Given the description of an element on the screen output the (x, y) to click on. 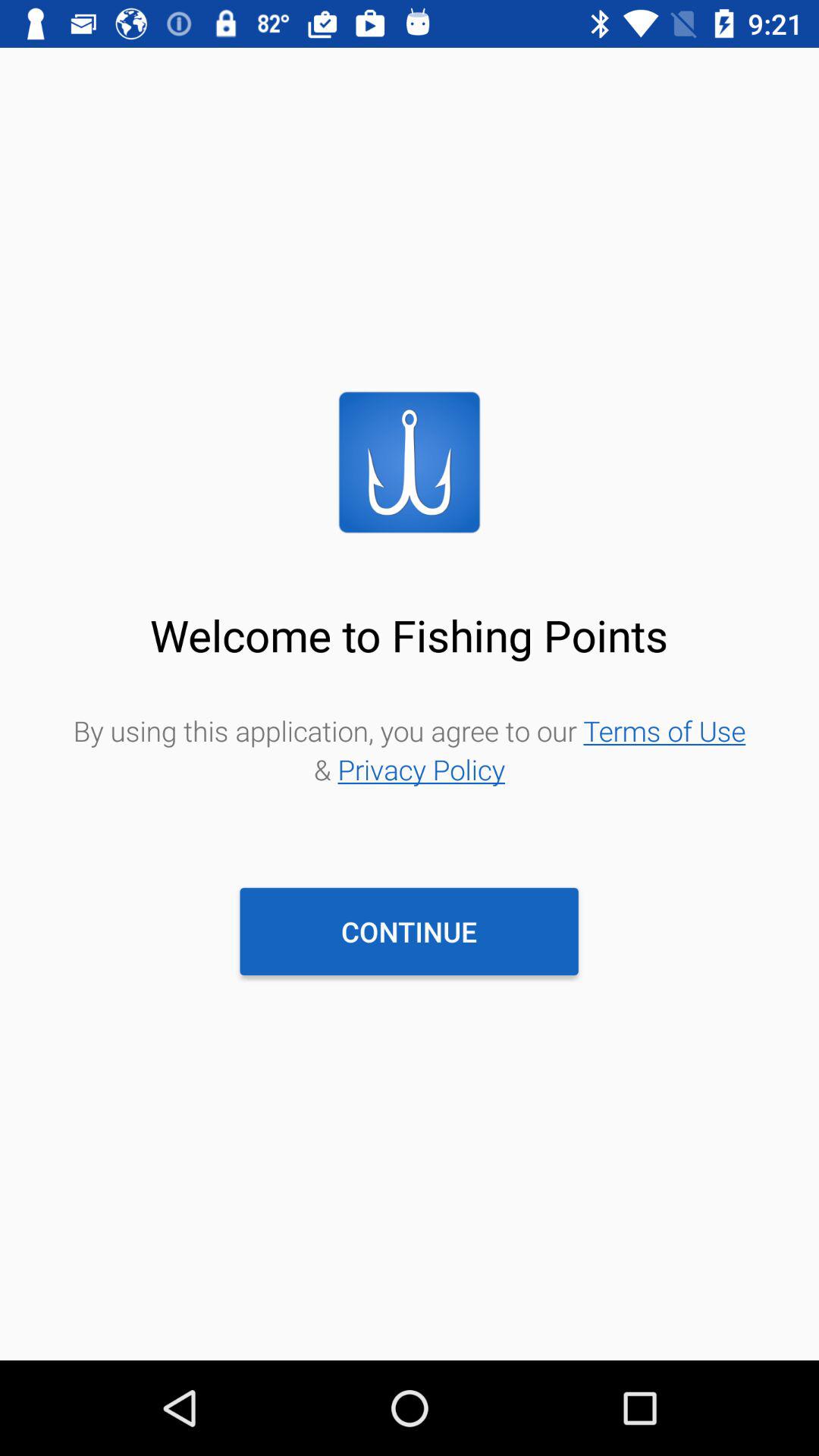
click continue (409, 931)
